Given the description of an element on the screen output the (x, y) to click on. 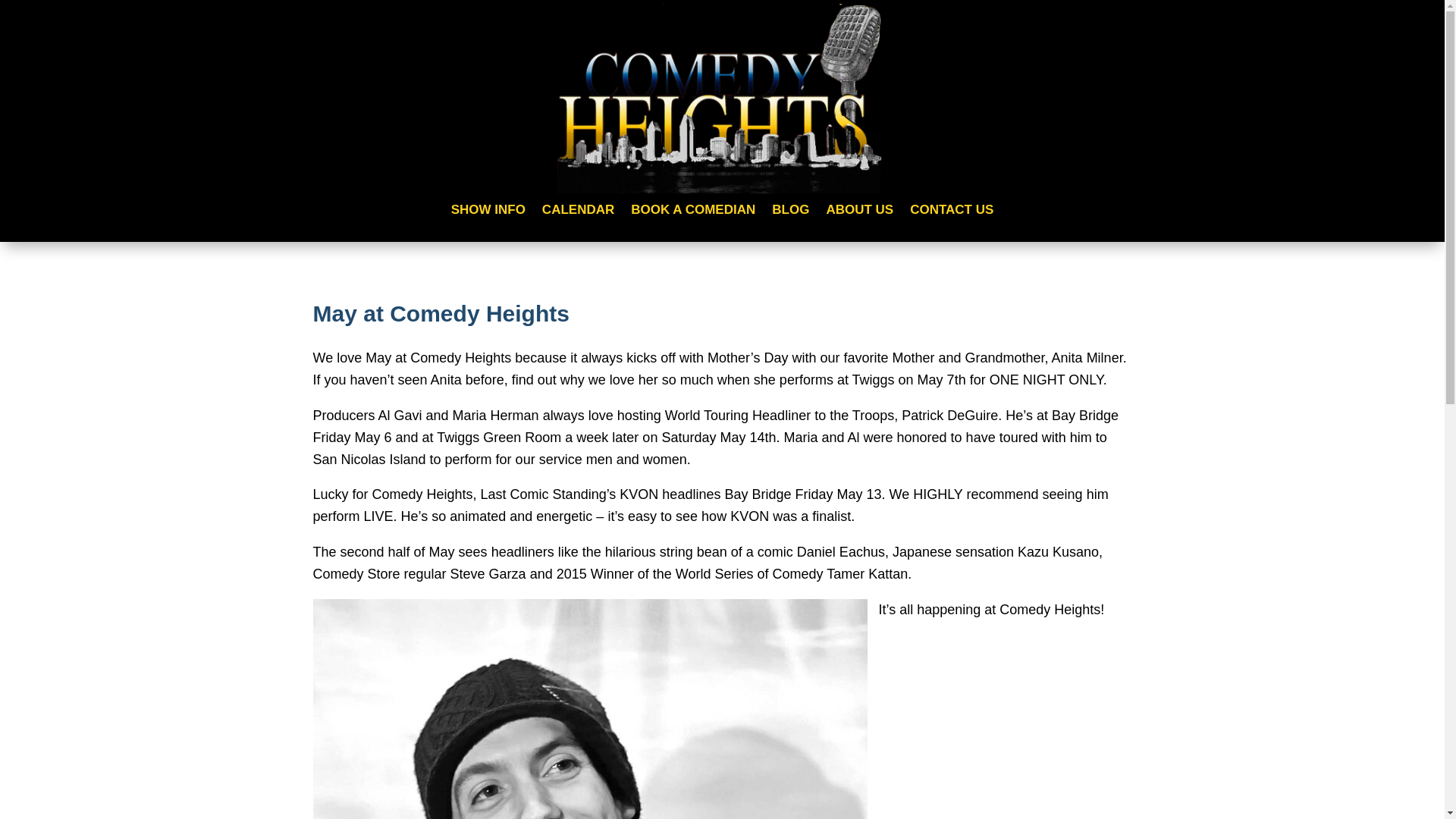
CALENDAR (577, 212)
ABOUT US (859, 212)
SHOW INFO (488, 212)
BLOG (790, 212)
BOOK A COMEDIAN (692, 212)
CONTACT US (951, 212)
comedy heights (722, 98)
